Given the description of an element on the screen output the (x, y) to click on. 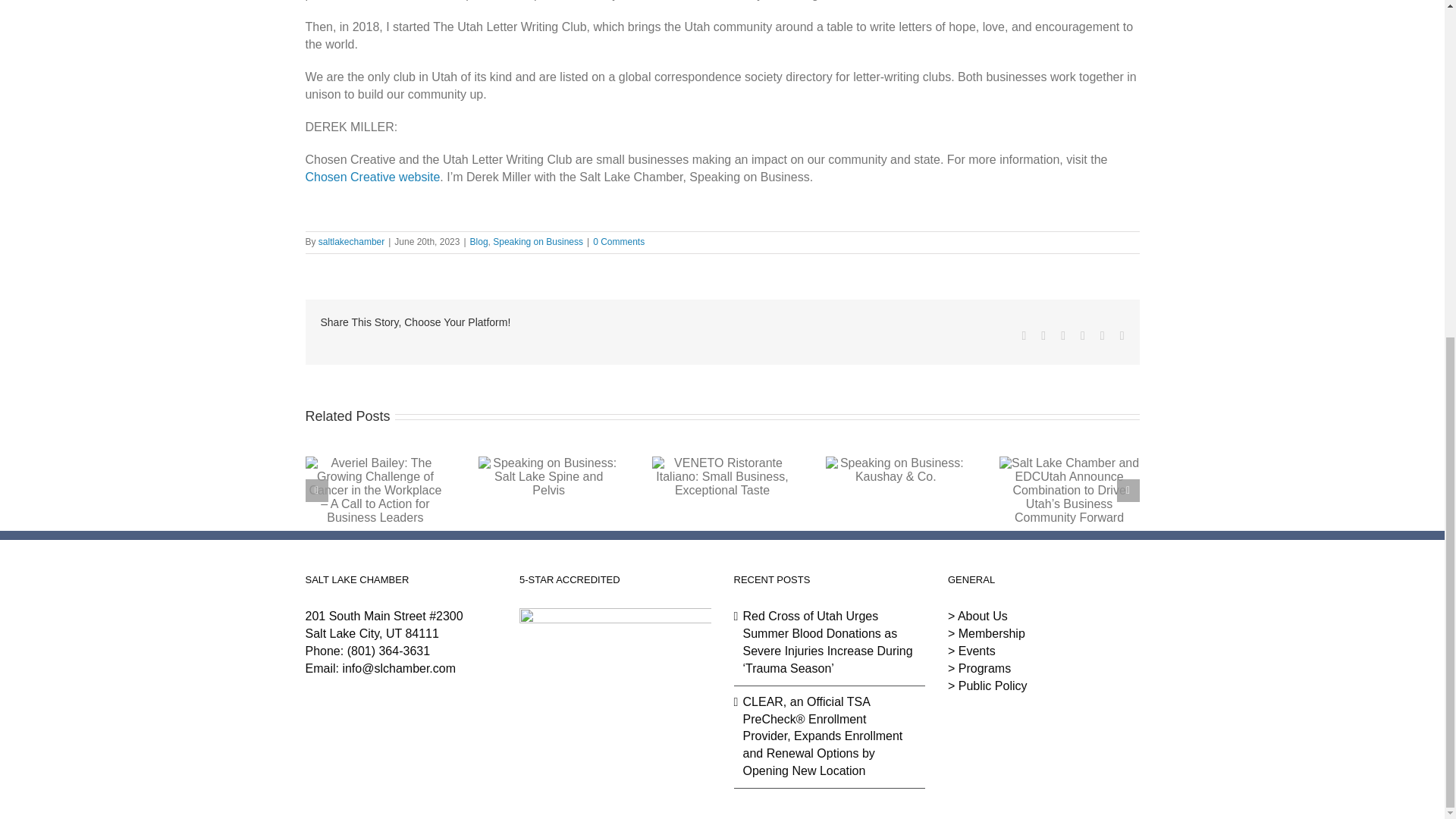
Pinterest (1102, 336)
Facebook (1024, 336)
Tumblr (1082, 336)
X (1043, 336)
LinkedIn (1063, 336)
Posts by saltlakechamber (351, 241)
